Given the description of an element on the screen output the (x, y) to click on. 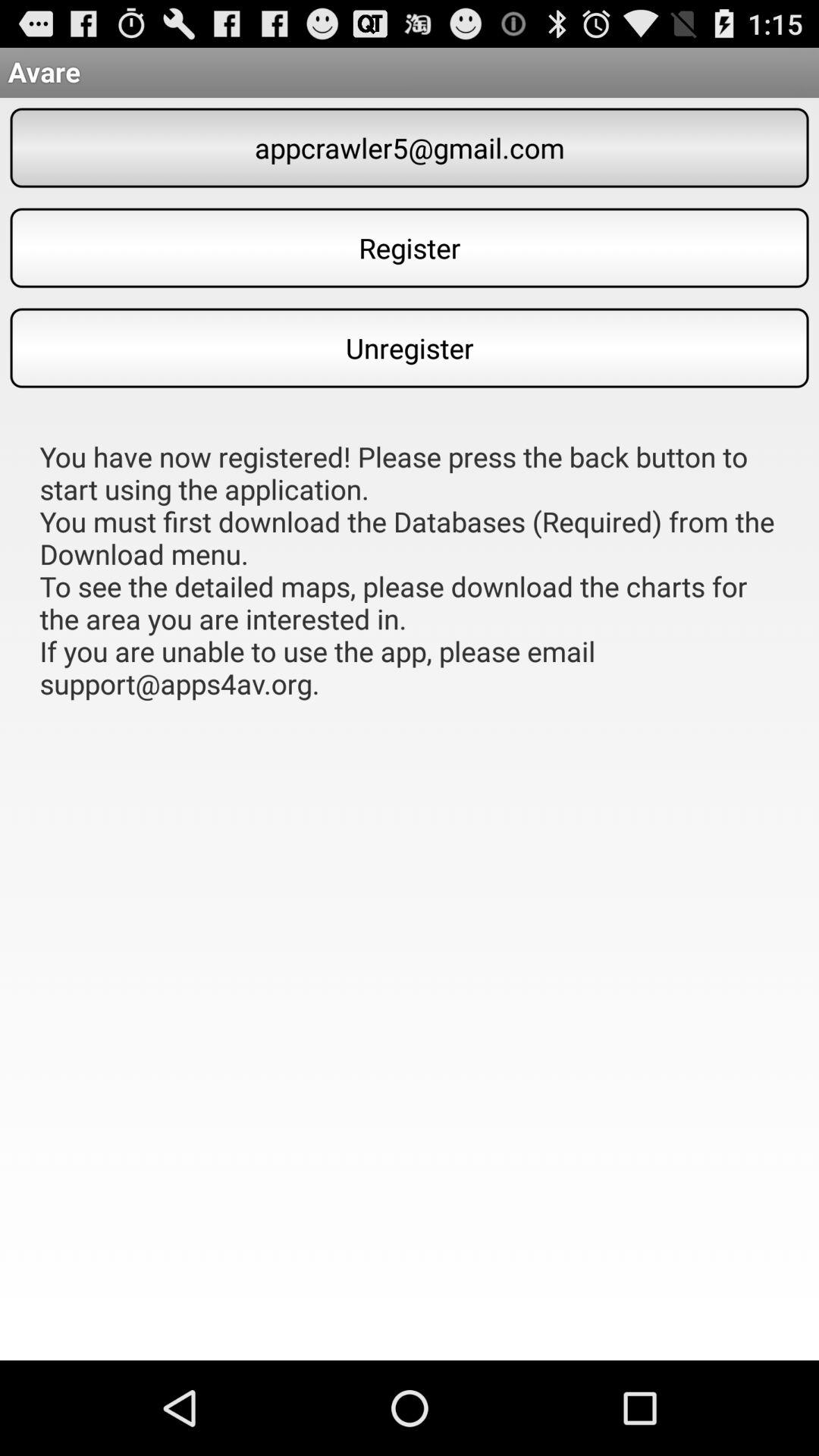
scroll until unregister (409, 347)
